Given the description of an element on the screen output the (x, y) to click on. 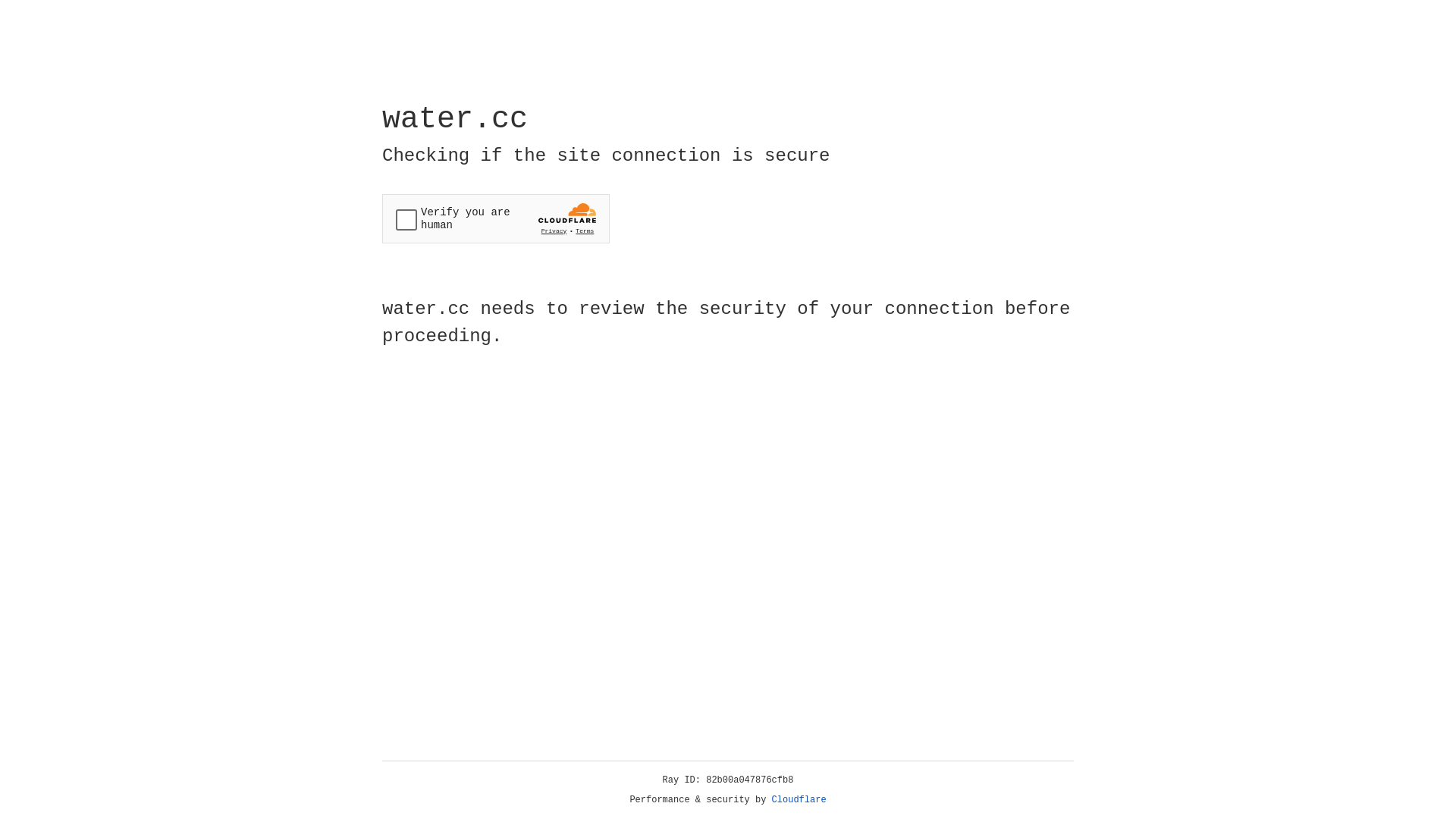
Cloudflare Element type: text (798, 799)
Widget containing a Cloudflare security challenge Element type: hover (495, 218)
